Given the description of an element on the screen output the (x, y) to click on. 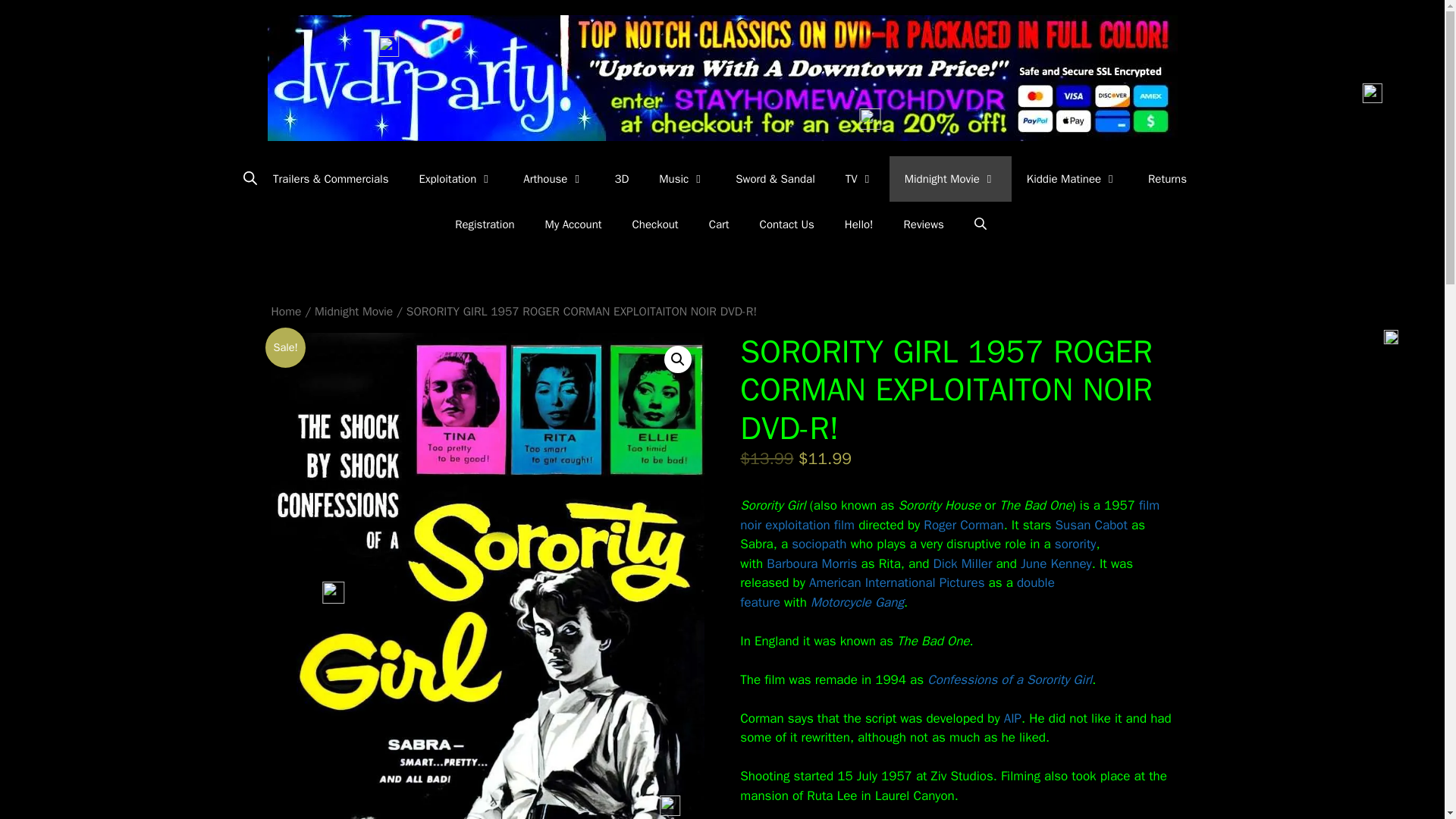
Exploitation film (809, 524)
Psychopathy (818, 544)
Registration (484, 224)
Midnight Movie (950, 178)
American International Pictures (897, 582)
Cart (719, 224)
Confessions of a Sorority Girl (1009, 679)
Double feature (896, 592)
Roger Corman (963, 524)
3D (620, 178)
